Given the description of an element on the screen output the (x, y) to click on. 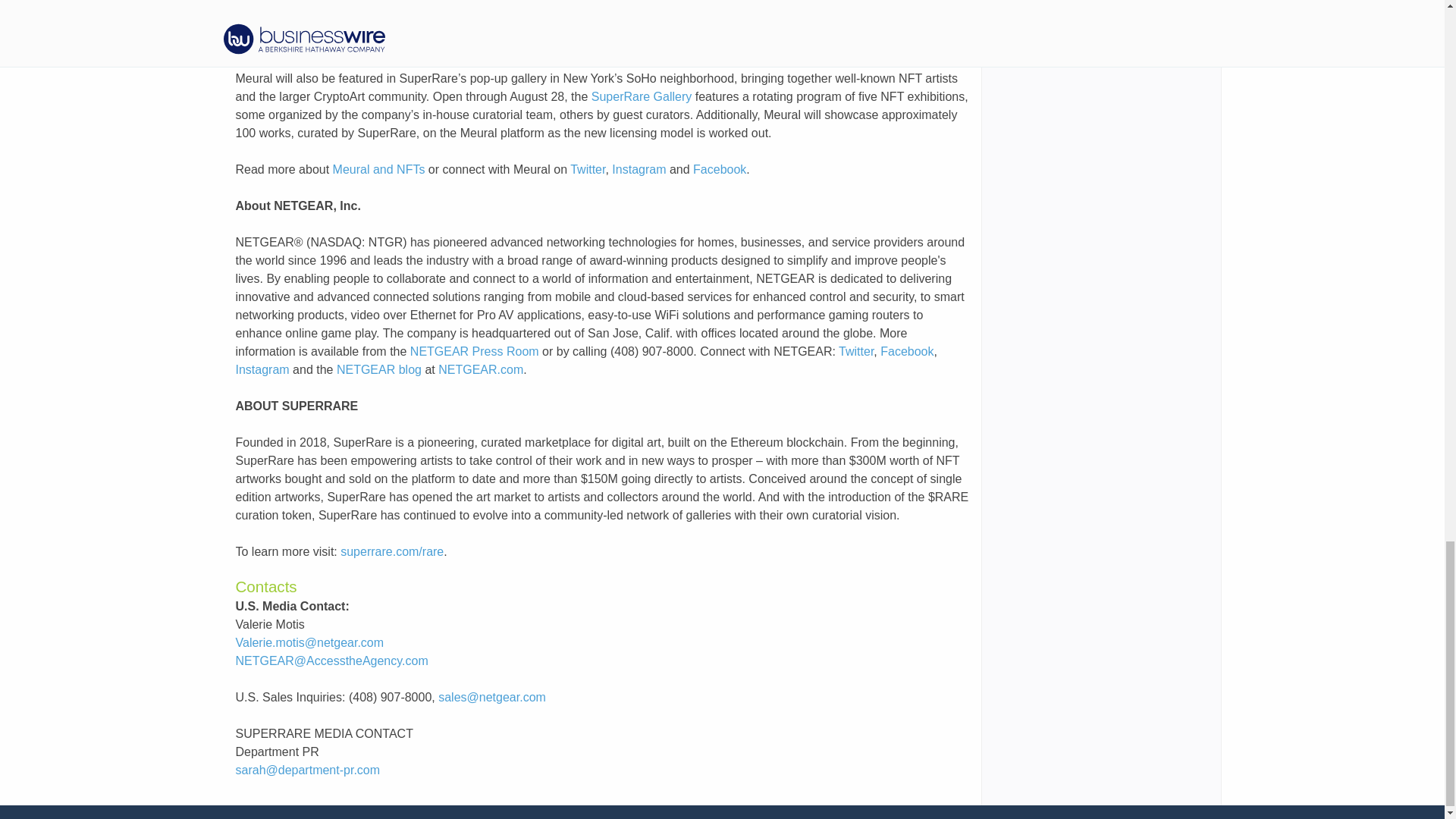
SuperRare Gallery (642, 96)
Facebook (719, 169)
Twitter (587, 169)
NETGEAR Press Room (474, 350)
Twitter (855, 350)
NETGEAR.com (480, 369)
NETGEAR blog (379, 369)
Meural and NFTs (379, 169)
Instagram (638, 169)
Facebook (906, 350)
